Given the description of an element on the screen output the (x, y) to click on. 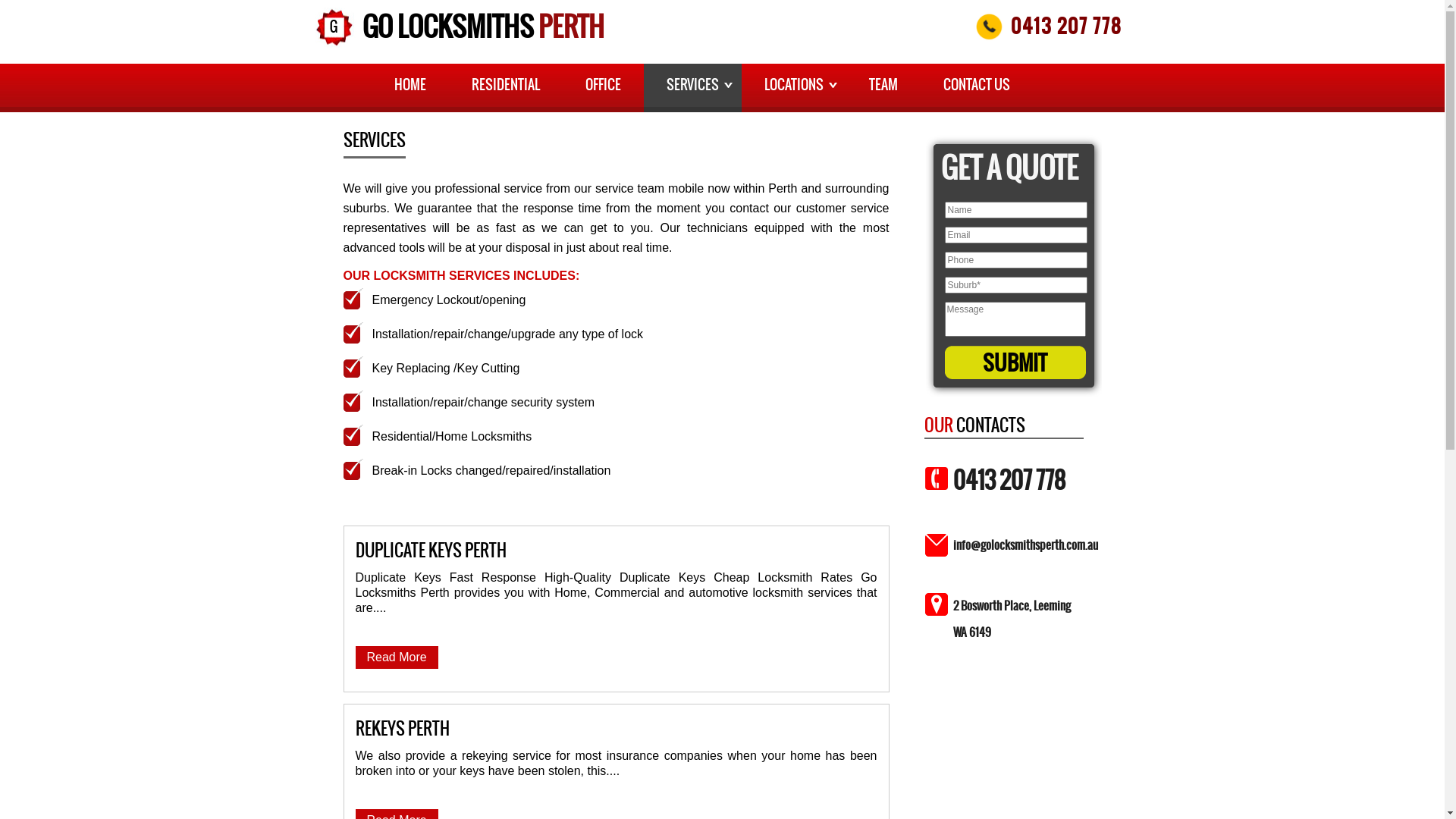
RESIDENTIAL Element type: text (505, 87)
SUBMIT Element type: text (1014, 362)
info@golocksmithsperth.com.au Element type: text (1024, 544)
Read More Element type: text (395, 657)
SERVICES Element type: text (692, 87)
TEAM Element type: text (883, 87)
0413 207 778 Element type: text (1008, 479)
OFFICE Element type: text (602, 87)
Emergency Locksmith South Perth - Call Us Now Element type: hover (992, 26)
HOME Element type: text (409, 87)
CONTACT US Element type: text (976, 87)
LOCATIONS Element type: text (793, 87)
0413 207 778 Element type: text (1066, 25)
24/7 Locksmiths Perth Element type: hover (335, 28)
